Given the description of an element on the screen output the (x, y) to click on. 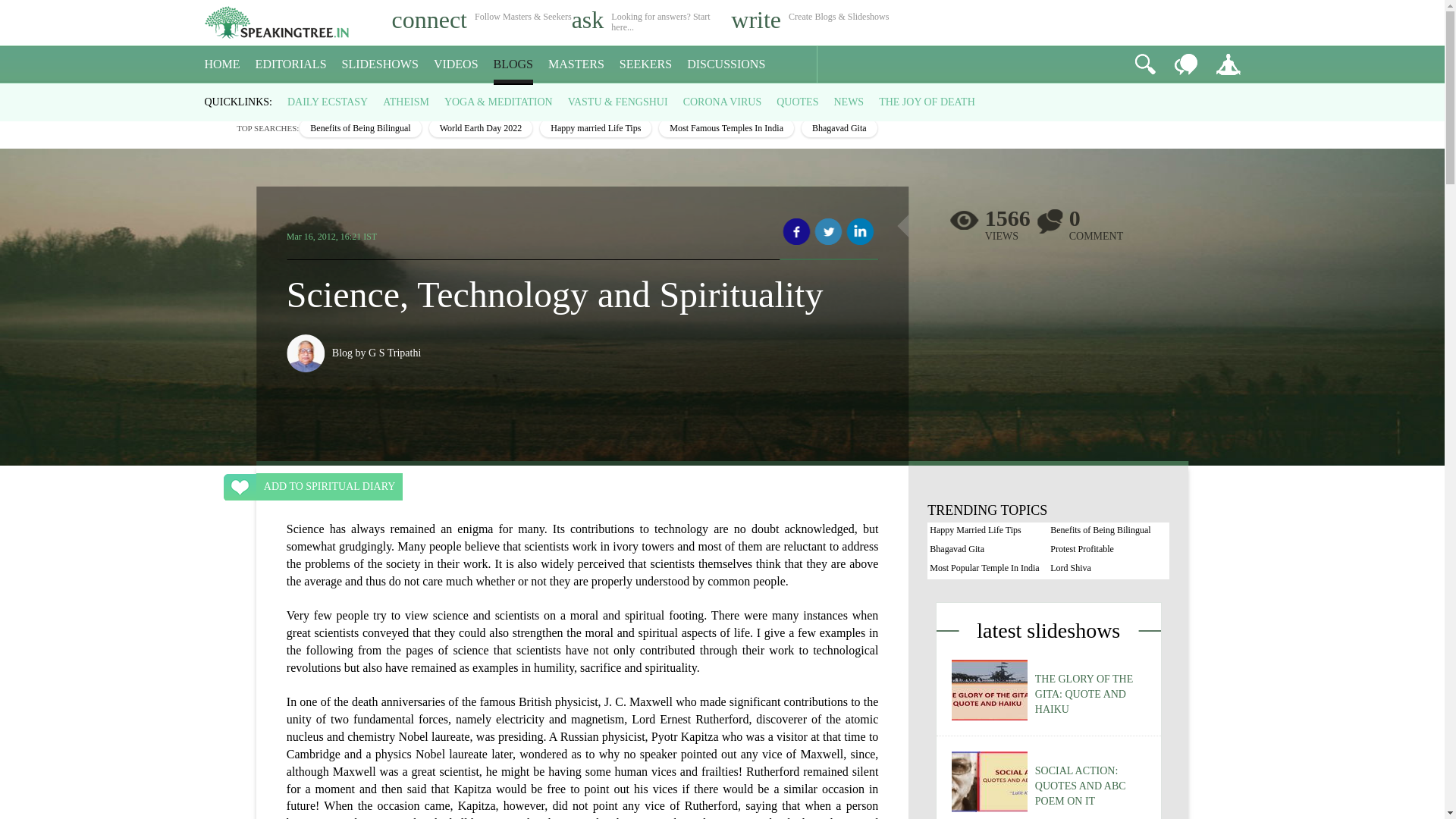
SLIDESHOWS (380, 64)
ATHEISM (405, 101)
NEWS (847, 101)
BLOGS (512, 64)
HOME (222, 64)
DISCUSSIONS (726, 64)
QUOTES (797, 101)
Speaking Tree (216, 96)
MASTERS (576, 64)
Share on LinkedIn (860, 231)
